Given the description of an element on the screen output the (x, y) to click on. 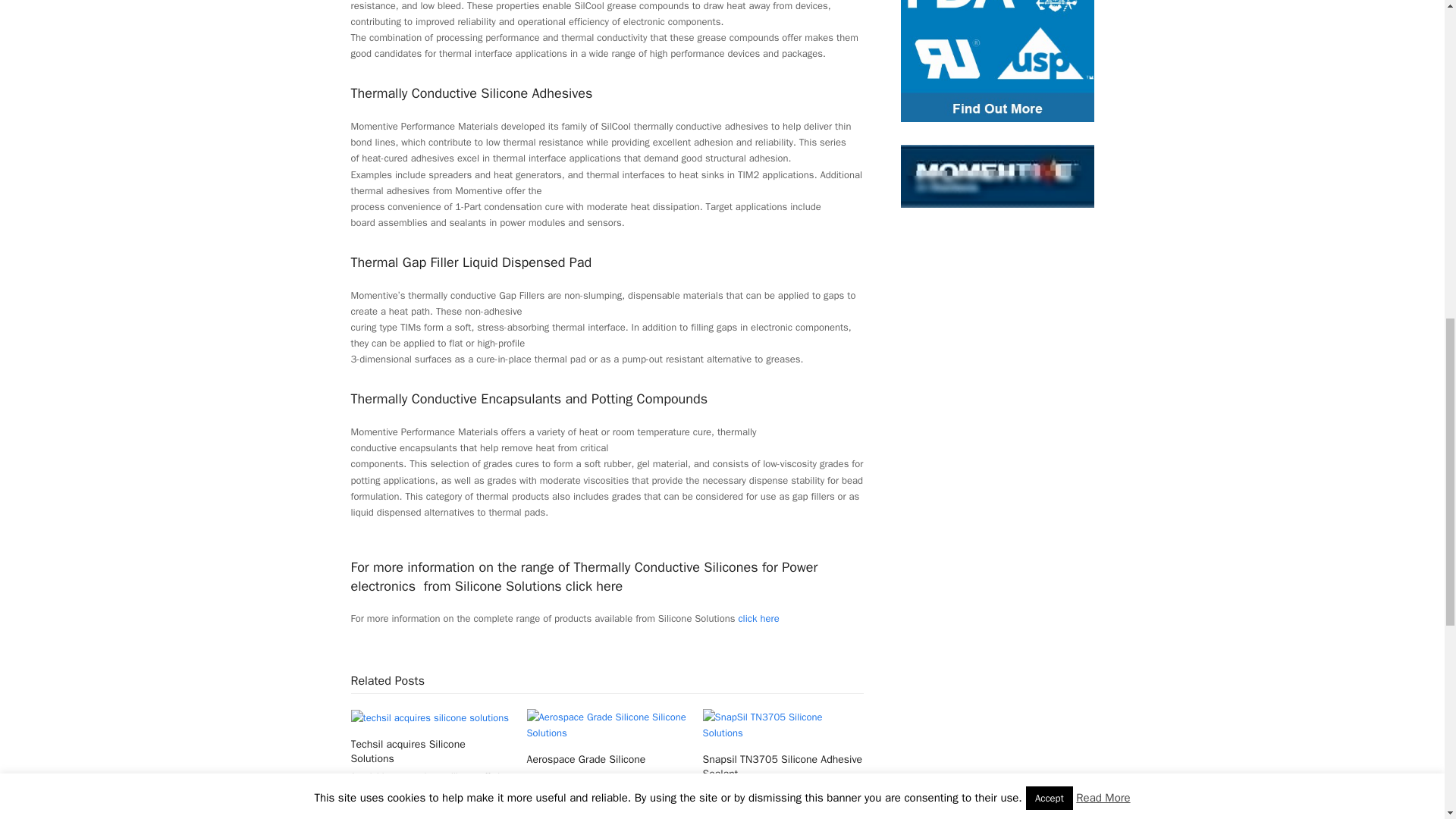
Aerospace Grade Silicone (607, 723)
Snapsil TN3705 Silicone Adhesive Sealant (783, 723)
Techsil acquires Silicone Solutions (429, 716)
